Given the description of an element on the screen output the (x, y) to click on. 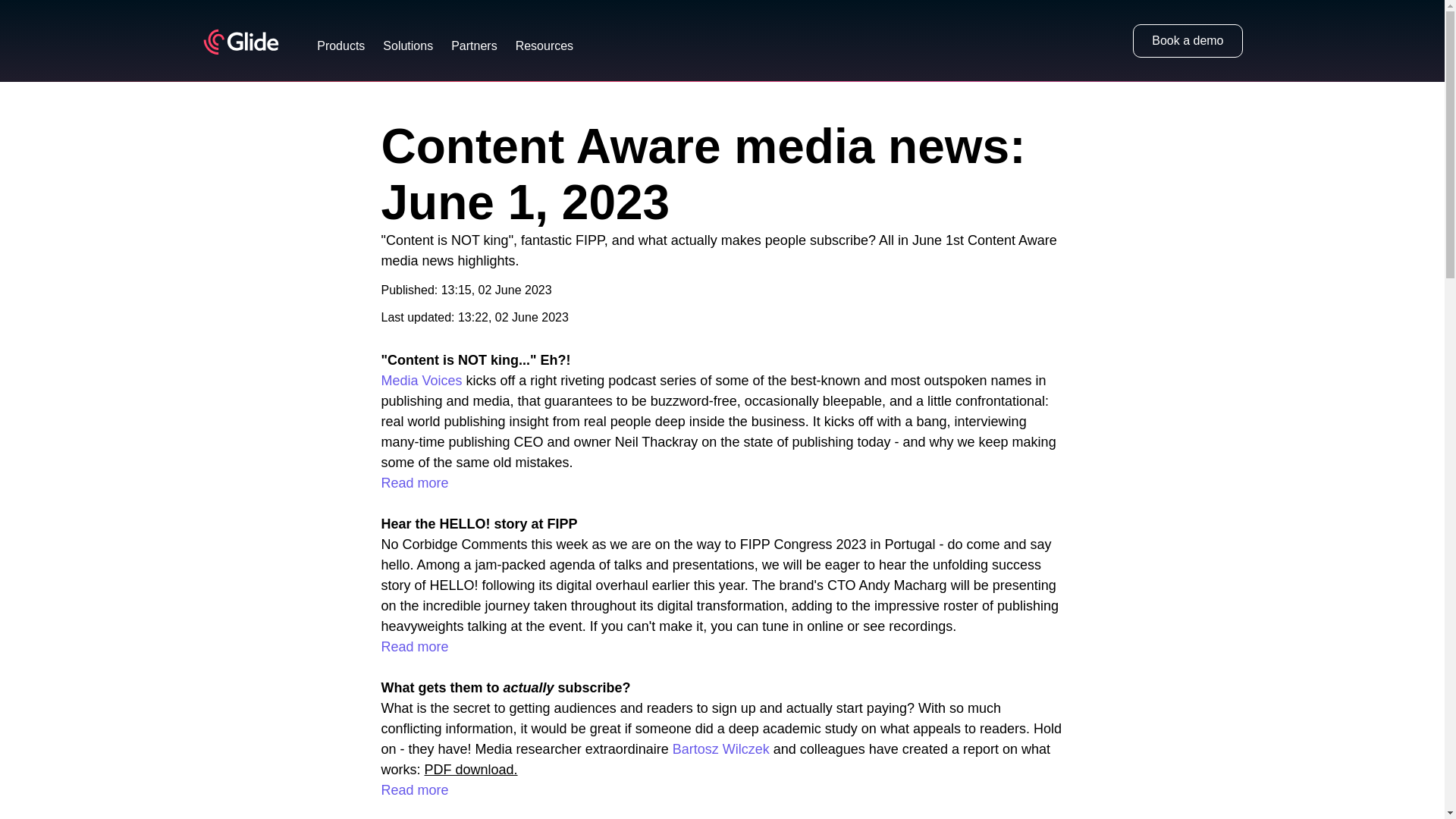
Read more (414, 789)
Resources (544, 45)
Partners (473, 45)
Book a demo (1187, 40)
Media Voices (420, 380)
Read more (414, 646)
Bartosz Wilczek (721, 749)
Solutions (407, 45)
Read more (414, 482)
Products (341, 45)
